Given the description of an element on the screen output the (x, y) to click on. 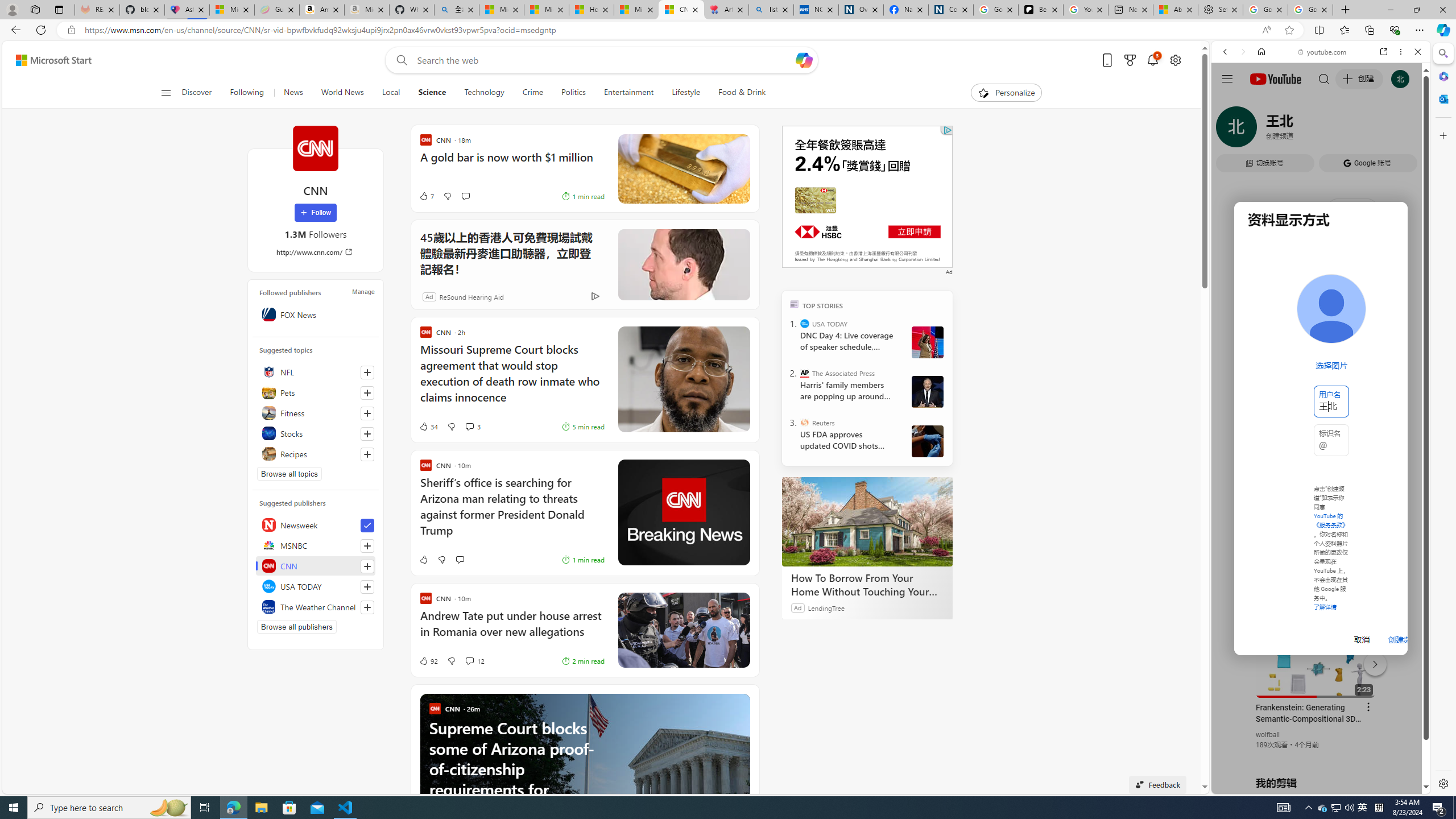
Fitness (315, 412)
AutomationID: canvas (866, 196)
US FDA approves updated COVID shots ahead of fall and winter (846, 440)
Music (1320, 309)
Follow (315, 212)
